Given the description of an element on the screen output the (x, y) to click on. 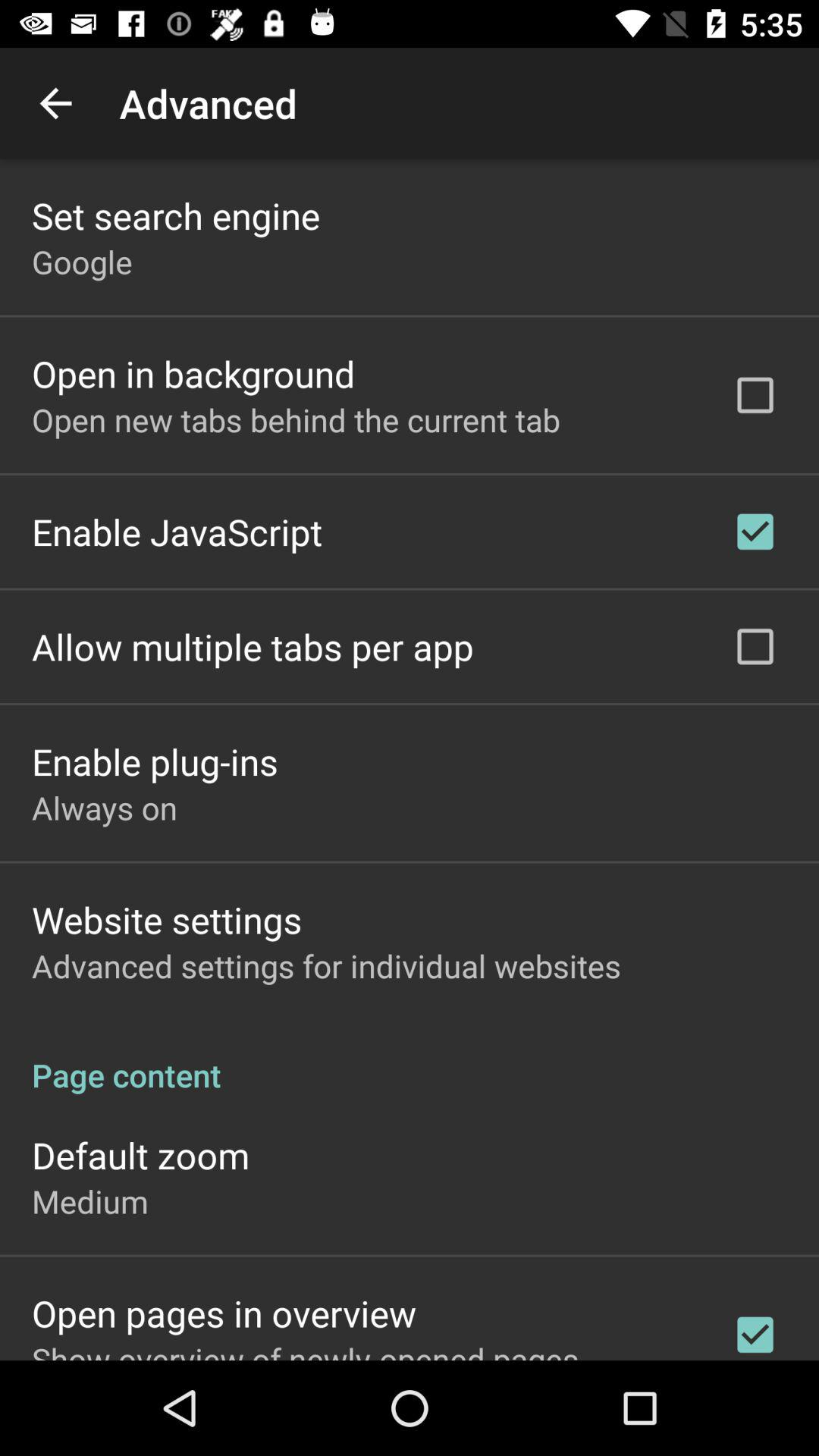
flip until open new tabs (295, 419)
